Given the description of an element on the screen output the (x, y) to click on. 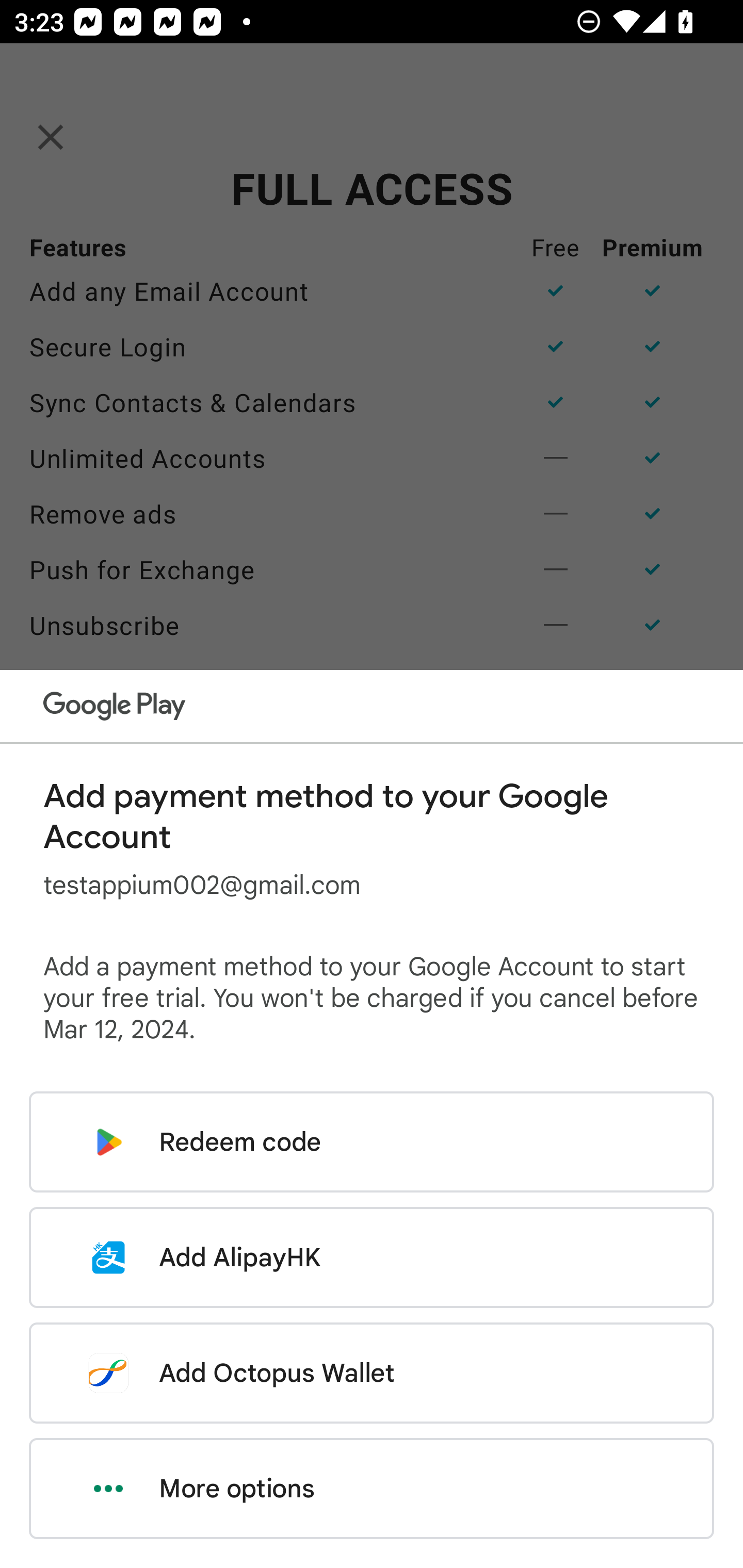
Redeem code (371, 1142)
Add AlipayHK (371, 1257)
Add Octopus Wallet (371, 1372)
More options (371, 1488)
